Given the description of an element on the screen output the (x, y) to click on. 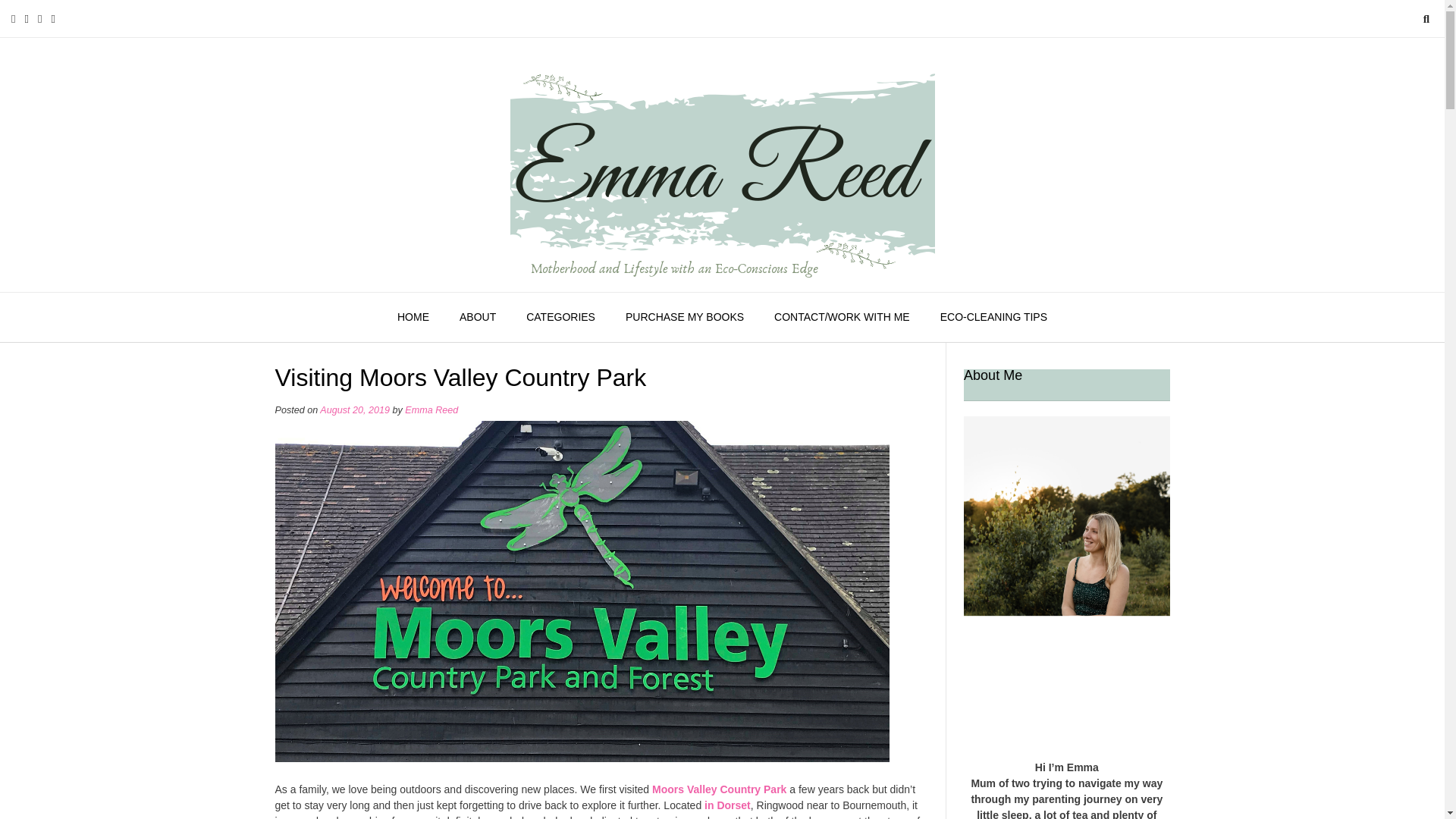
August 20, 2019 (355, 409)
Emma Reed (721, 164)
CATEGORIES (560, 317)
Moors Valley Country Park (719, 788)
in Dorset (727, 805)
ECO-CLEANING TIPS (993, 317)
HOME (412, 317)
ABOUT (477, 317)
Emma Reed (431, 409)
PURCHASE MY BOOKS (684, 317)
